Given the description of an element on the screen output the (x, y) to click on. 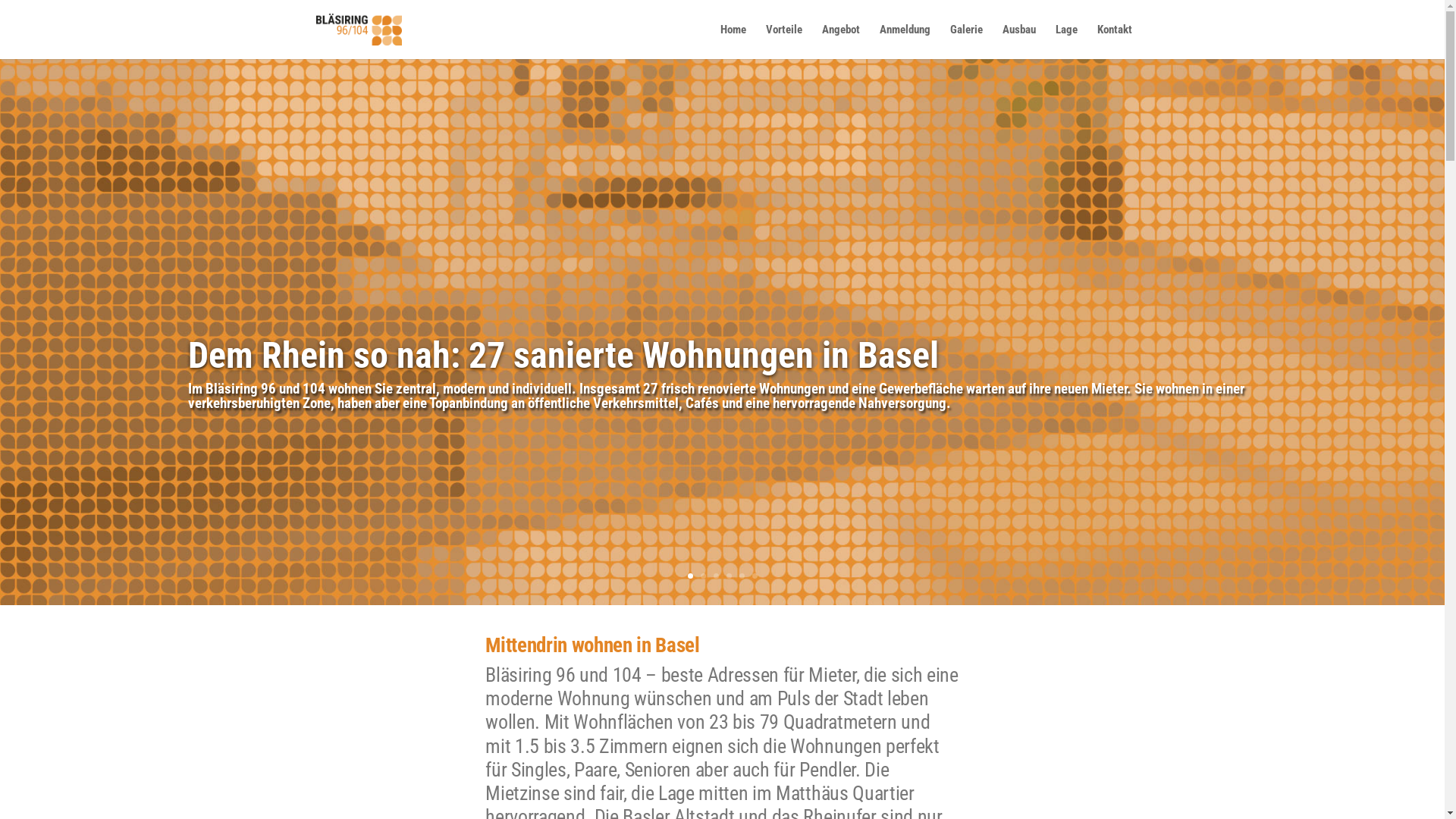
6 Element type: text (754, 575)
Angebot Element type: text (840, 41)
Home Element type: text (733, 41)
5 Element type: text (740, 575)
1 Element type: text (689, 575)
Galerie Element type: text (965, 41)
Vorteile Element type: text (783, 41)
3 Element type: text (715, 575)
2 Element type: text (703, 575)
4 Element type: text (728, 575)
Ausbau Element type: text (1018, 41)
Lage Element type: text (1066, 41)
Anmeldung Element type: text (904, 41)
Kontakt Element type: text (1113, 41)
